Given the description of an element on the screen output the (x, y) to click on. 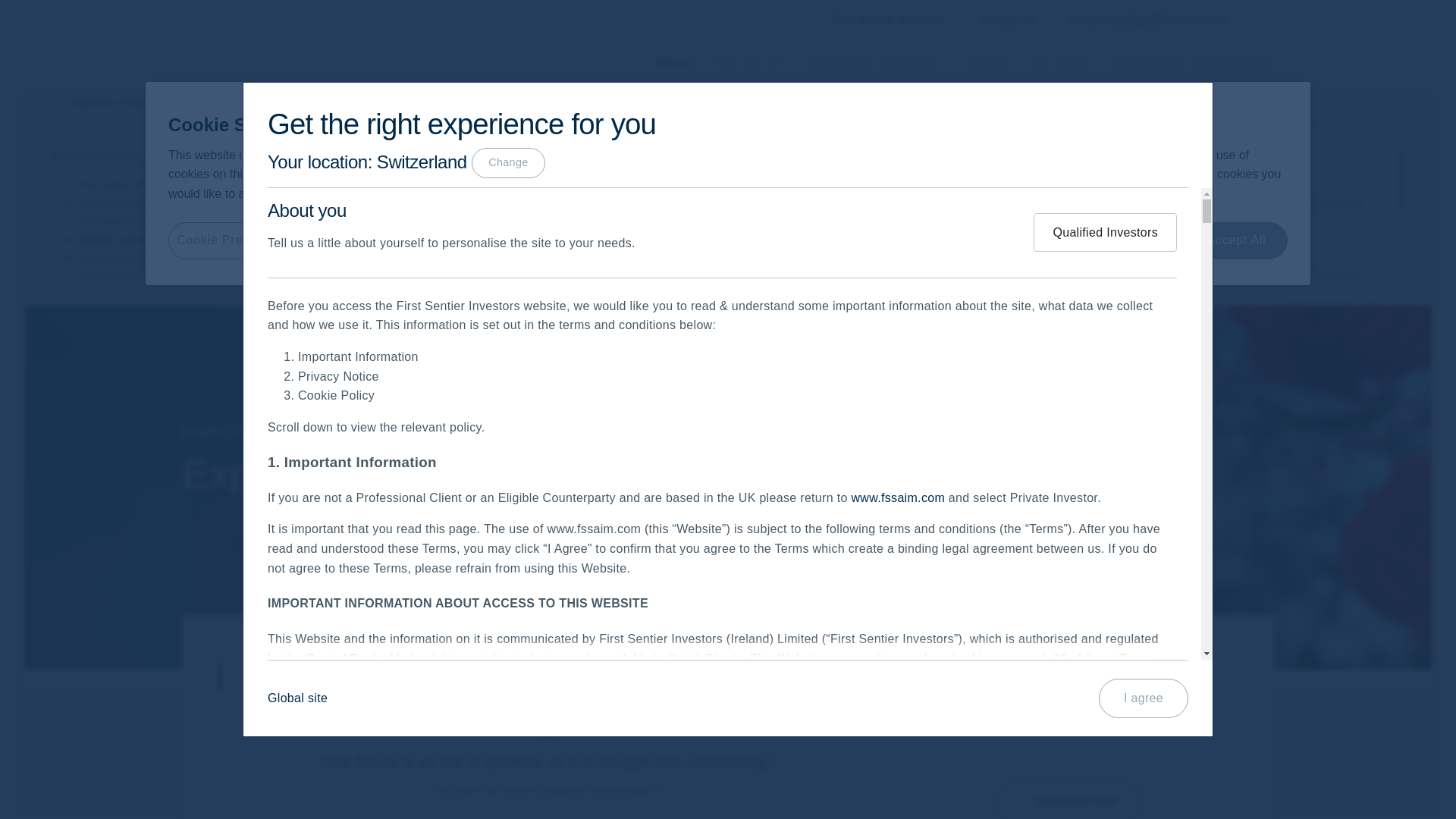
Asia Pacific (272, 431)
Responsible investment (872, 63)
Who we are (747, 63)
Search (1256, 19)
Insights (986, 63)
Asia Pacific (1115, 717)
Home (673, 63)
Our funds (1059, 63)
Insights (205, 431)
First Sentier Investors (881, 20)
